Given the description of an element on the screen output the (x, y) to click on. 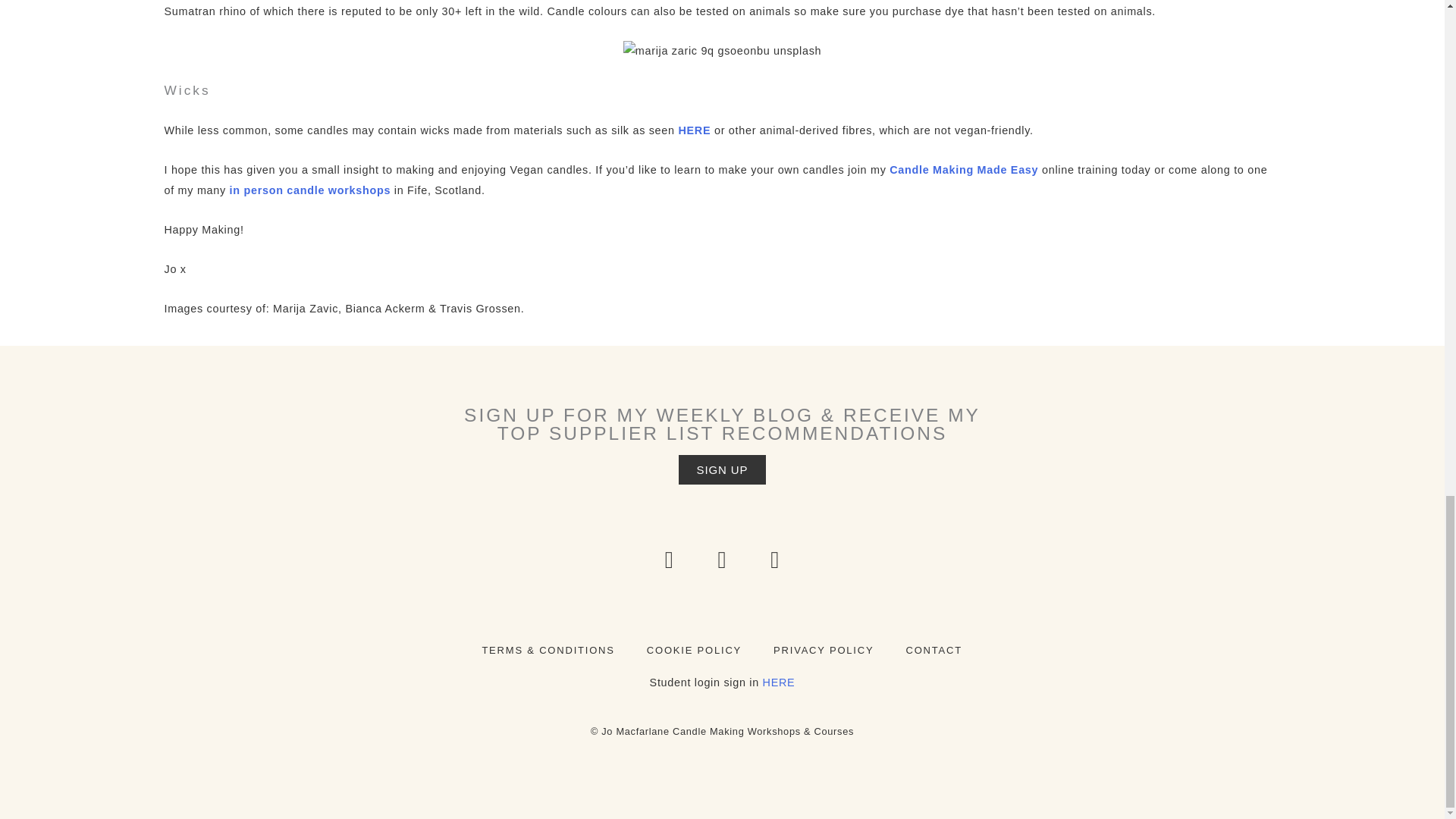
HERE (778, 681)
Candle Making Made Easy (963, 169)
PRIVACY POLICY (823, 649)
COOKIE POLICY (693, 649)
SIGN UP (721, 469)
HERE (694, 130)
in person candle workshops (310, 190)
CONTACT (932, 649)
